Given the description of an element on the screen output the (x, y) to click on. 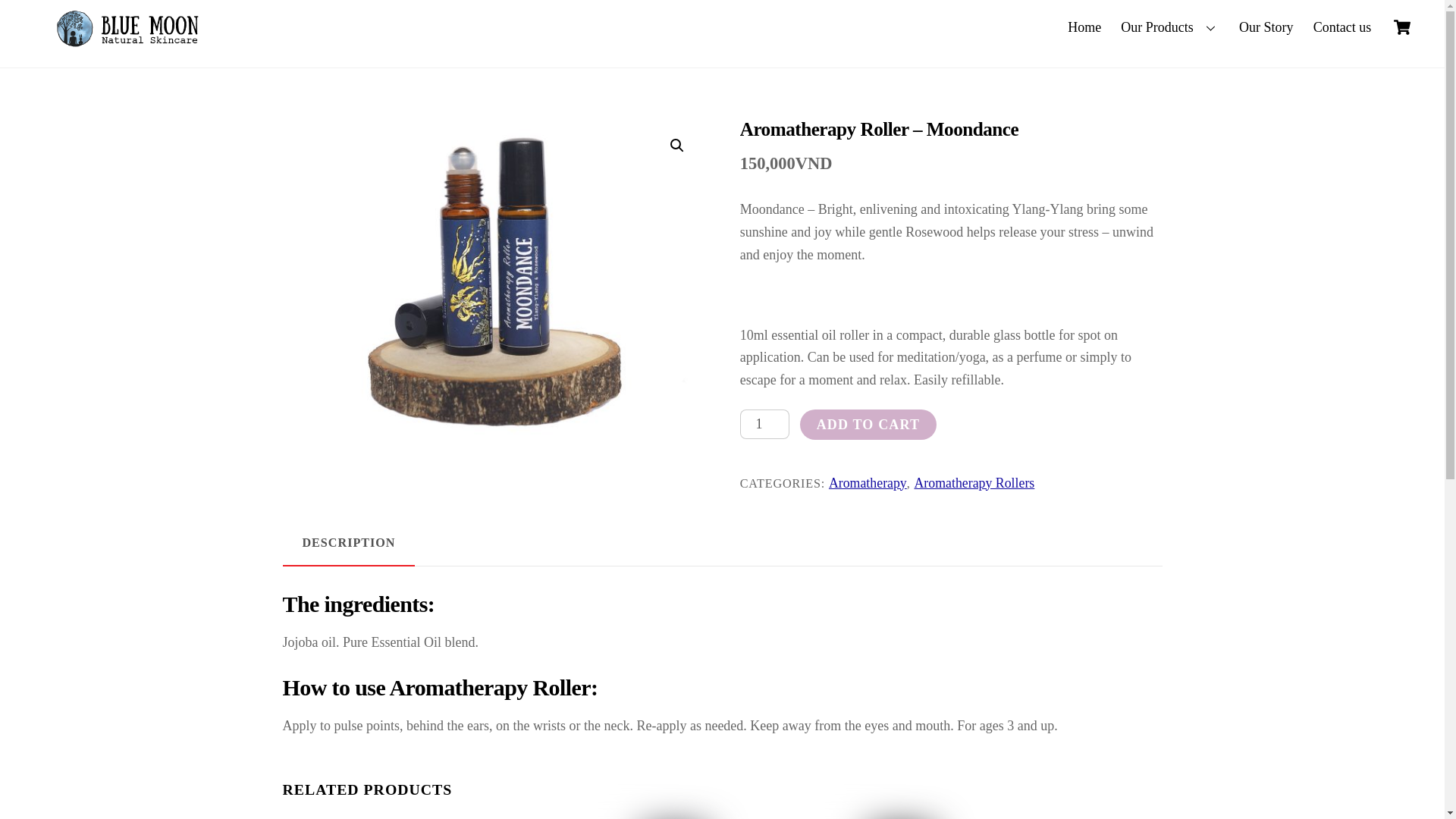
Blue Moon - Natural Skincare (134, 45)
Cart (1401, 27)
Contact us (1341, 27)
1 (764, 423)
ADD TO CART (867, 424)
DESCRIPTION (348, 543)
Our Story (1265, 27)
Home (1084, 27)
Website logo header 500X100 2021-01 (134, 30)
Aromatherapy (867, 482)
Our Products (722, 27)
Qty (1170, 27)
Aromatherapy Rollers (764, 423)
